Given the description of an element on the screen output the (x, y) to click on. 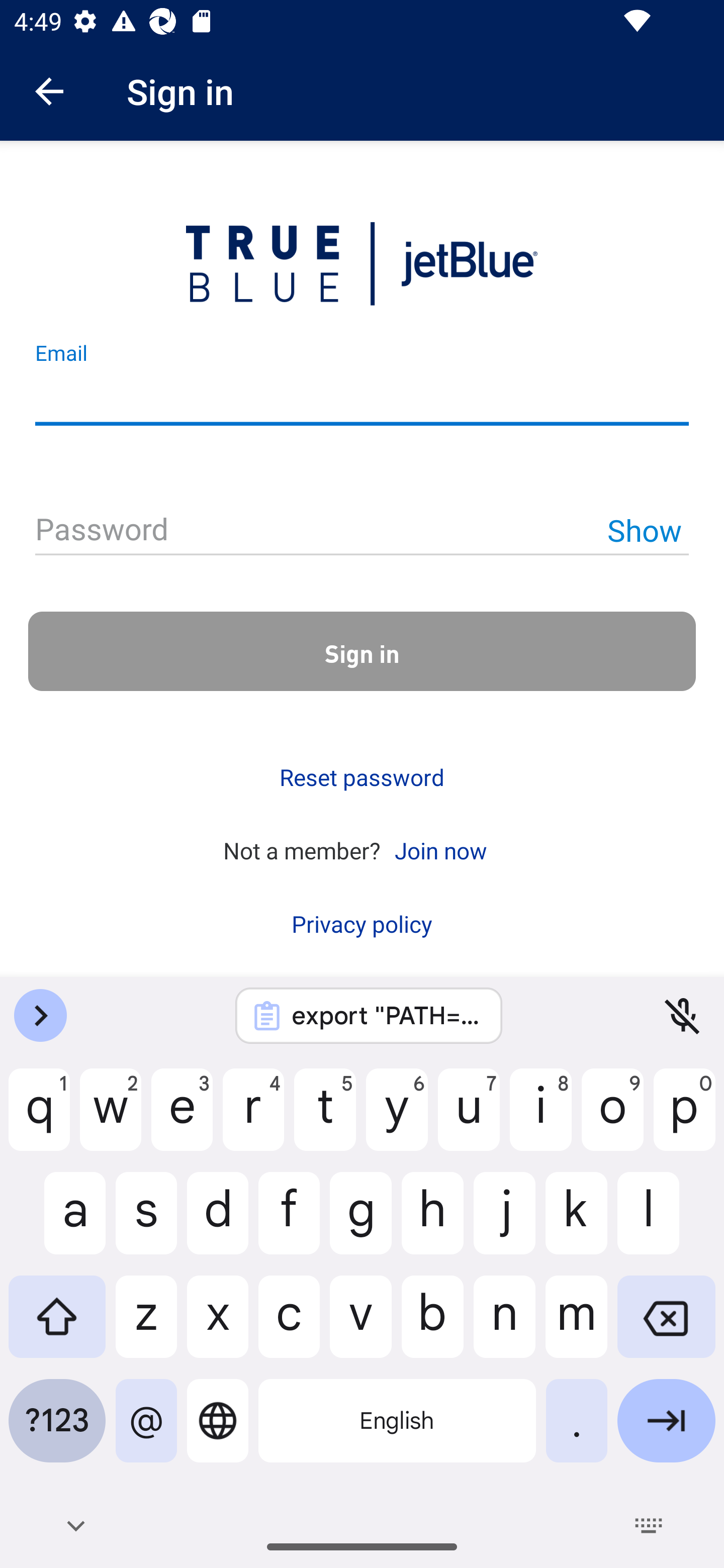
Navigate up (49, 91)
Email (361, 398)
Password (361, 530)
Show (643, 529)
Sign in (361, 651)
Reset password (361, 776)
Join now (440, 849)
Privacy policy (361, 923)
